Given the description of an element on the screen output the (x, y) to click on. 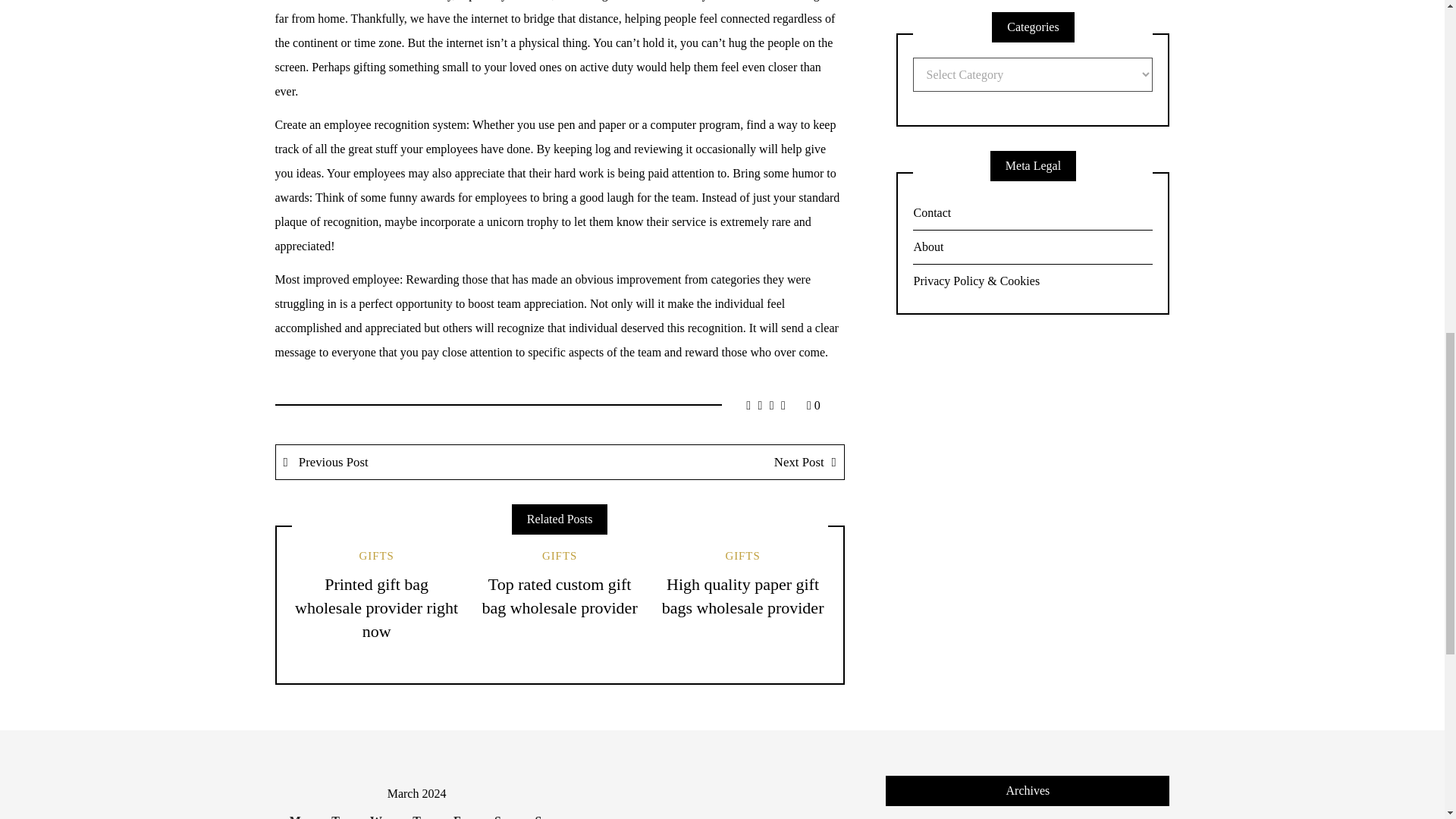
Sunday (538, 811)
Top rated custom gift bag wholesale provider (559, 595)
High quality paper gift bags wholesale provider (743, 595)
Wednesday (375, 811)
Top rated custom gift bag wholesale provider (559, 595)
Tuesday (335, 811)
Saturday (497, 811)
GIFTS (742, 555)
GIFTS (558, 555)
Friday (456, 811)
